Given the description of an element on the screen output the (x, y) to click on. 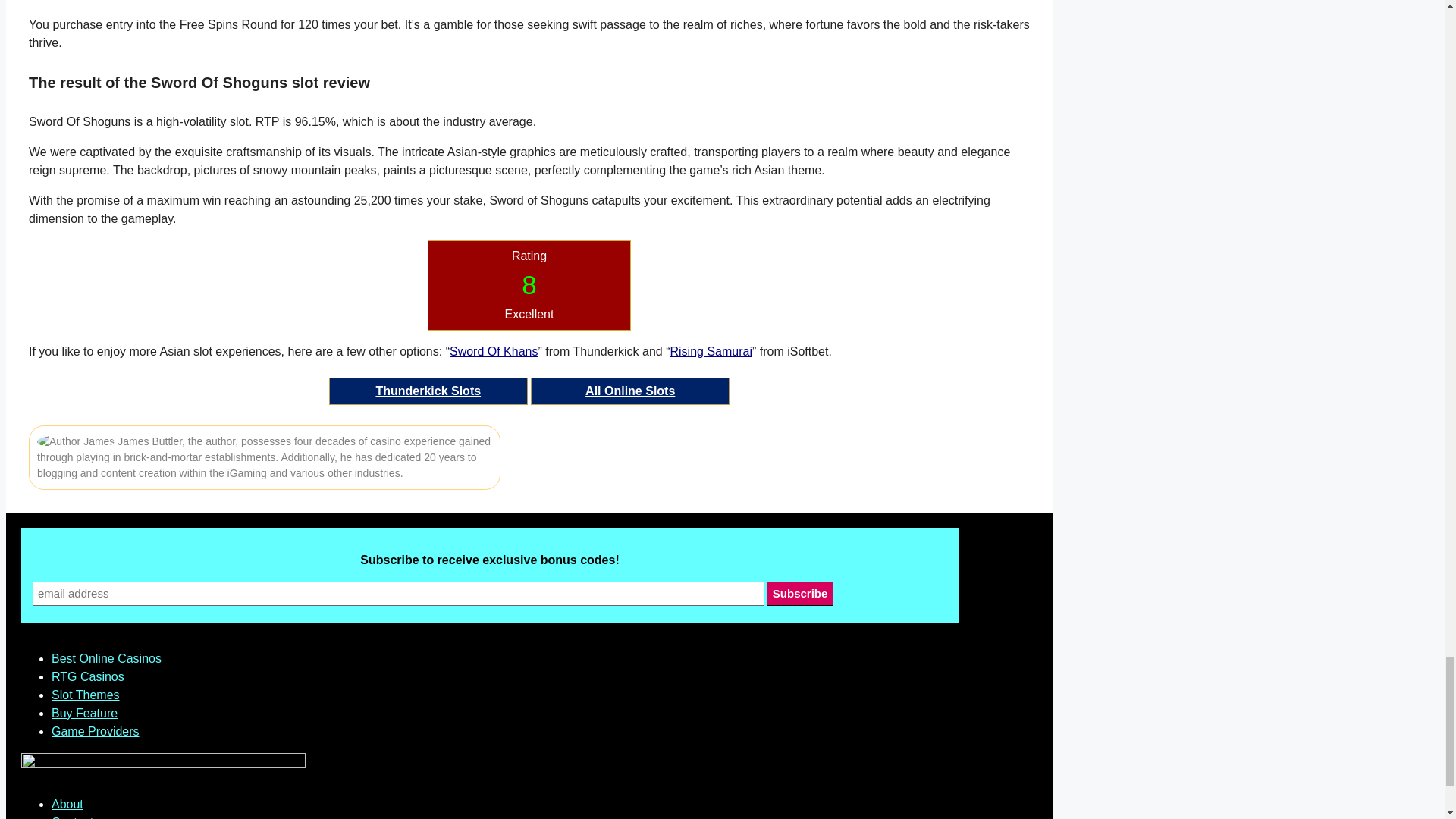
Subscribe (800, 593)
